Given the description of an element on the screen output the (x, y) to click on. 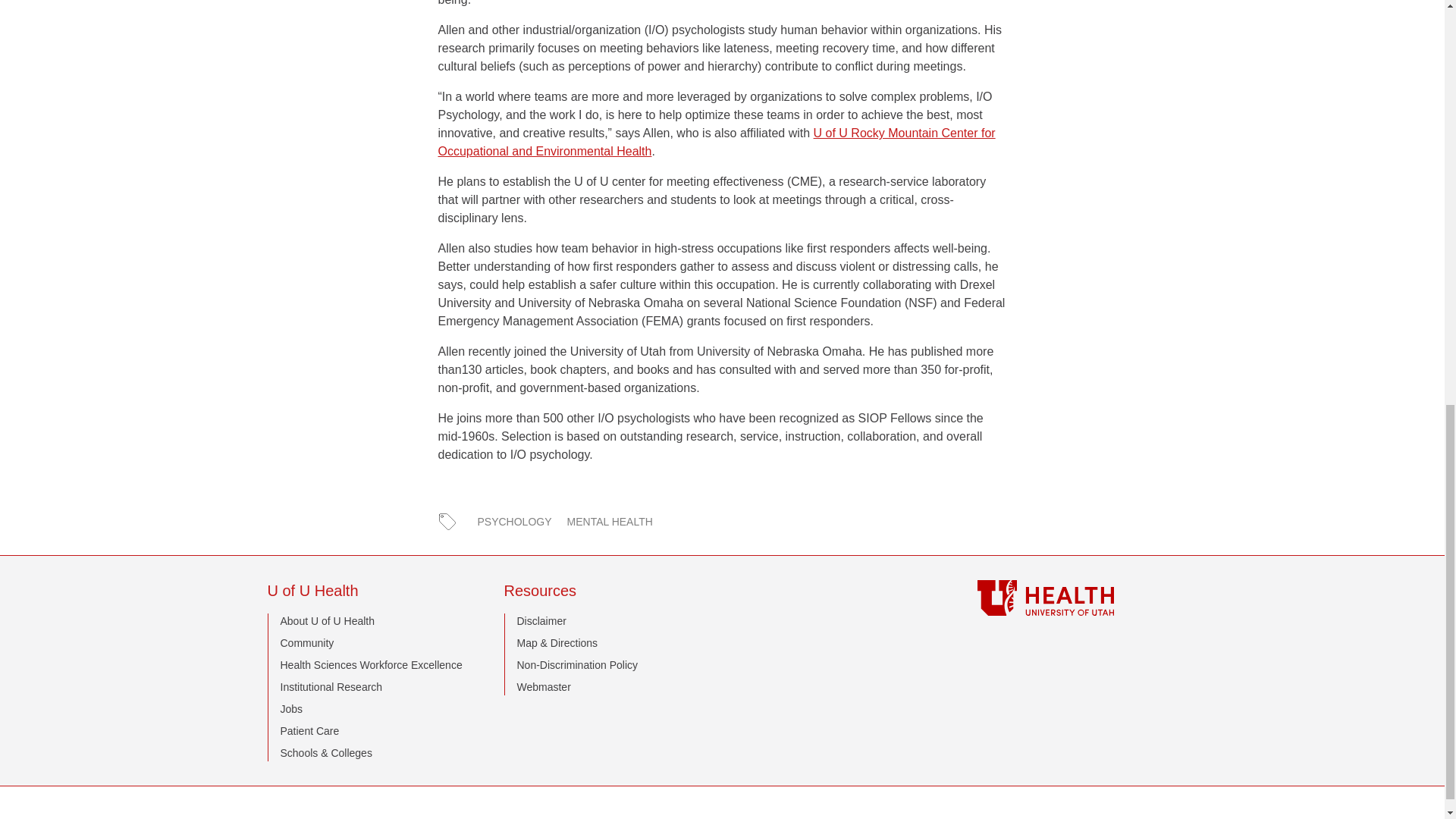
University of Utah Healthcare (1076, 597)
